Given the description of an element on the screen output the (x, y) to click on. 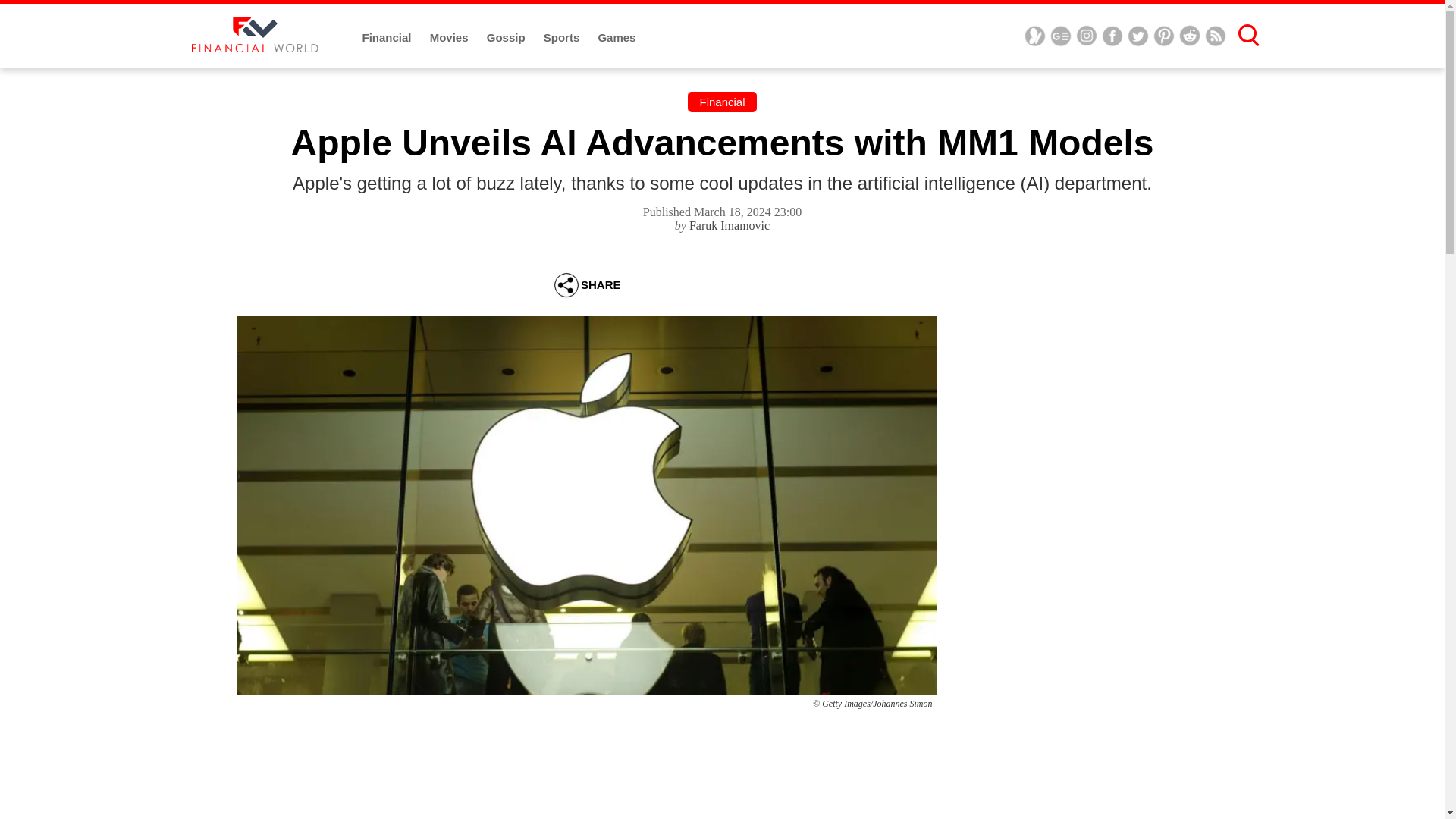
Games (615, 37)
Sports (563, 37)
Faruk Imamovic (729, 225)
Financial (388, 37)
Movies (450, 37)
Gossip (507, 37)
Financial (721, 101)
